Given the description of an element on the screen output the (x, y) to click on. 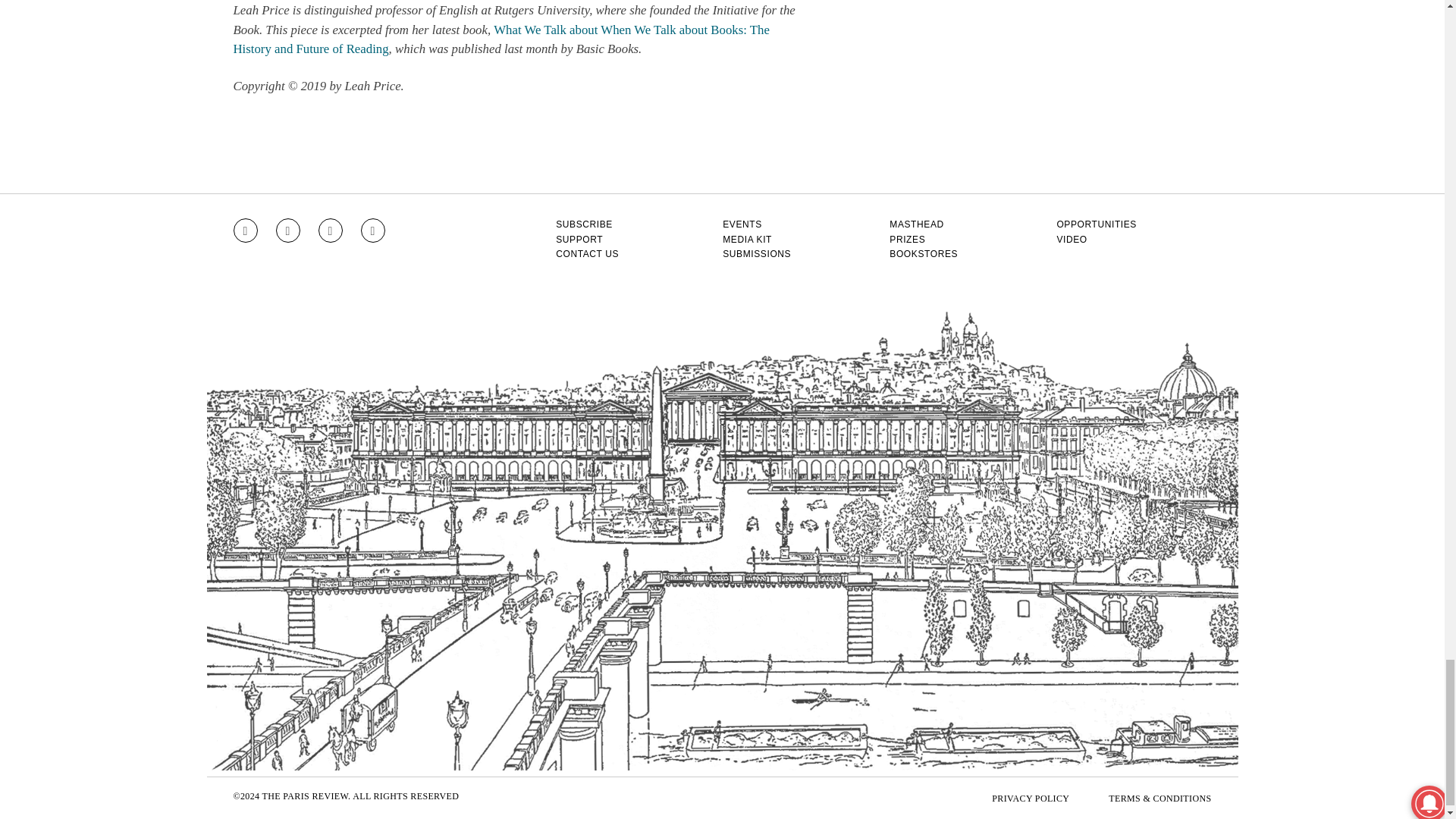
Go to Instagram feed (244, 230)
Go to RSS feed (373, 230)
Go to Twitter feed (330, 230)
Go to Facebook page (287, 230)
